Given the description of an element on the screen output the (x, y) to click on. 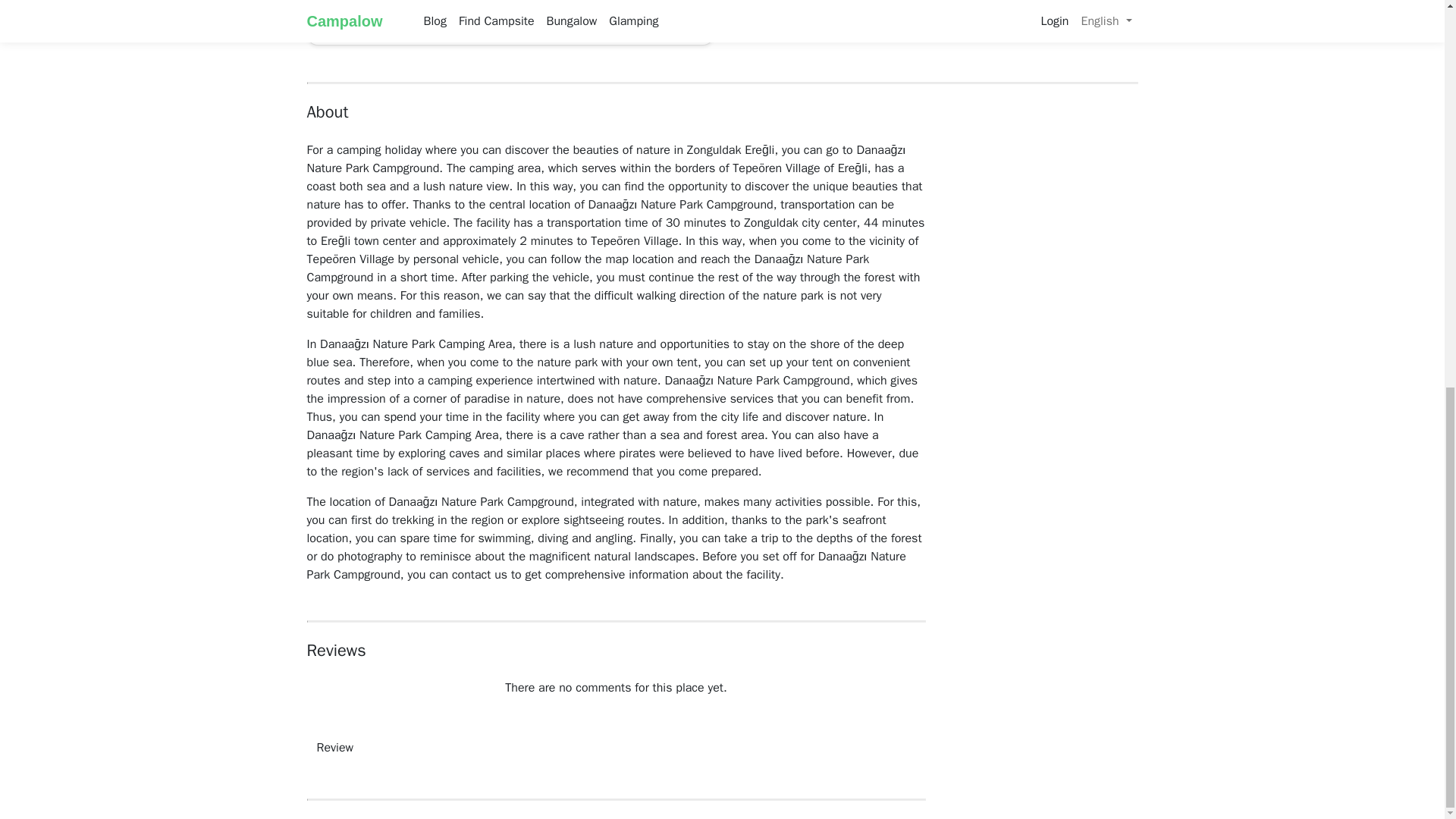
Review (333, 747)
